Given the description of an element on the screen output the (x, y) to click on. 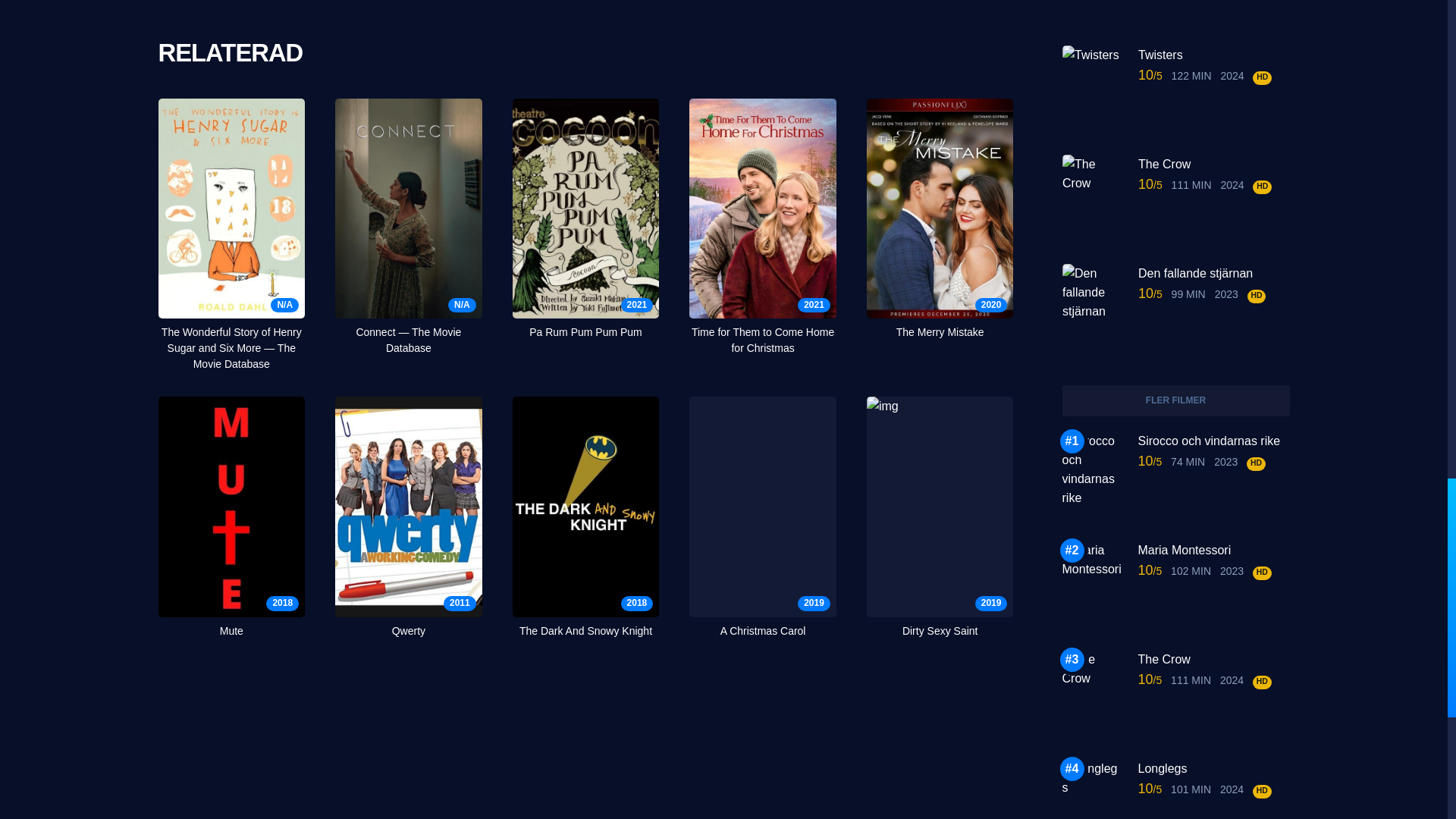
The Crow (1212, 163)
Maria Montessori (1212, 549)
Twisters (1212, 54)
Sirocco och vindarnas rike (1212, 440)
The Crow (1212, 659)
Longlegs (1212, 768)
